Given the description of an element on the screen output the (x, y) to click on. 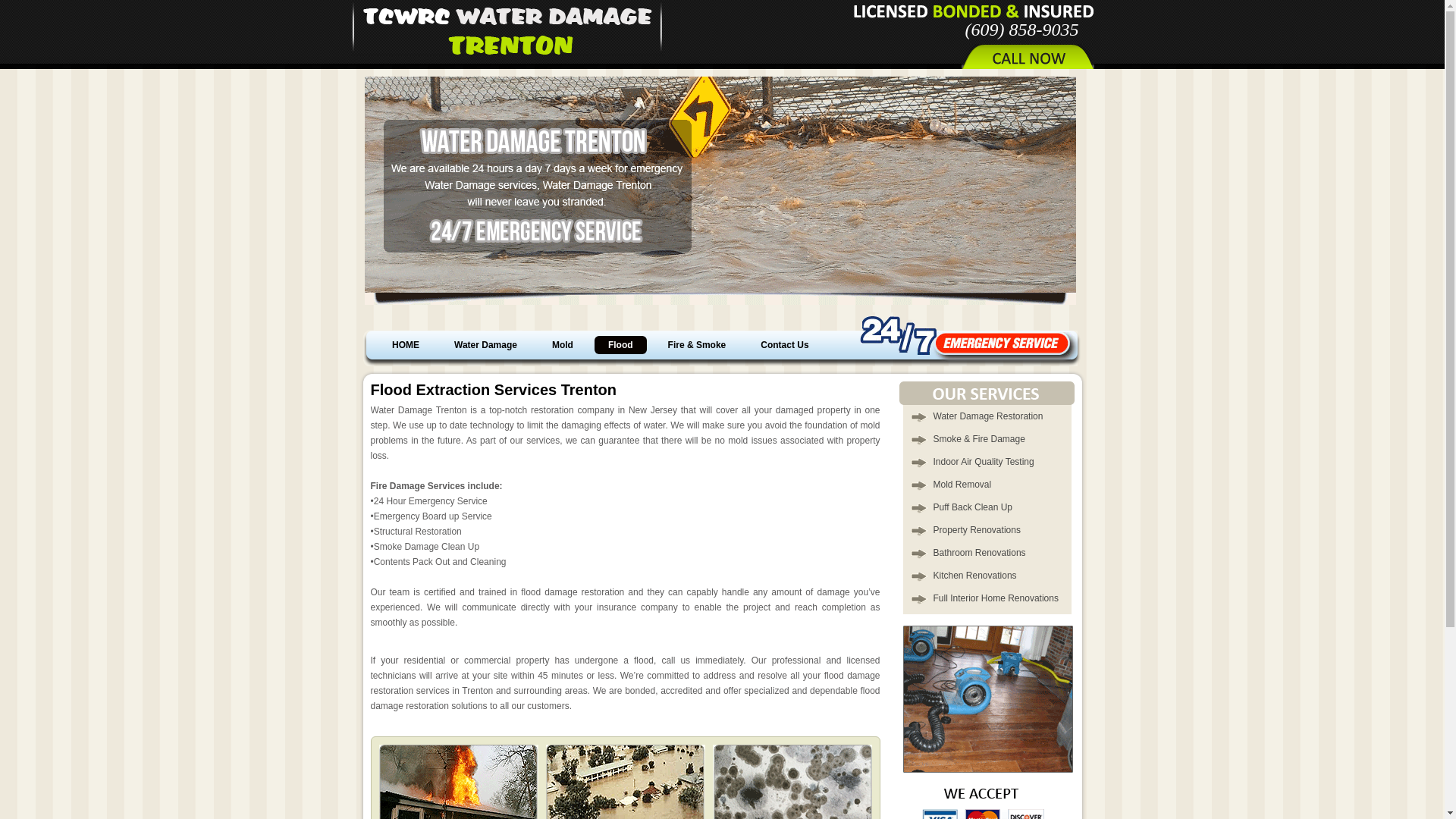
Mold (562, 344)
Contact Us (784, 344)
Flood (620, 344)
Water Damage (486, 344)
HOME (405, 344)
